Given the description of an element on the screen output the (x, y) to click on. 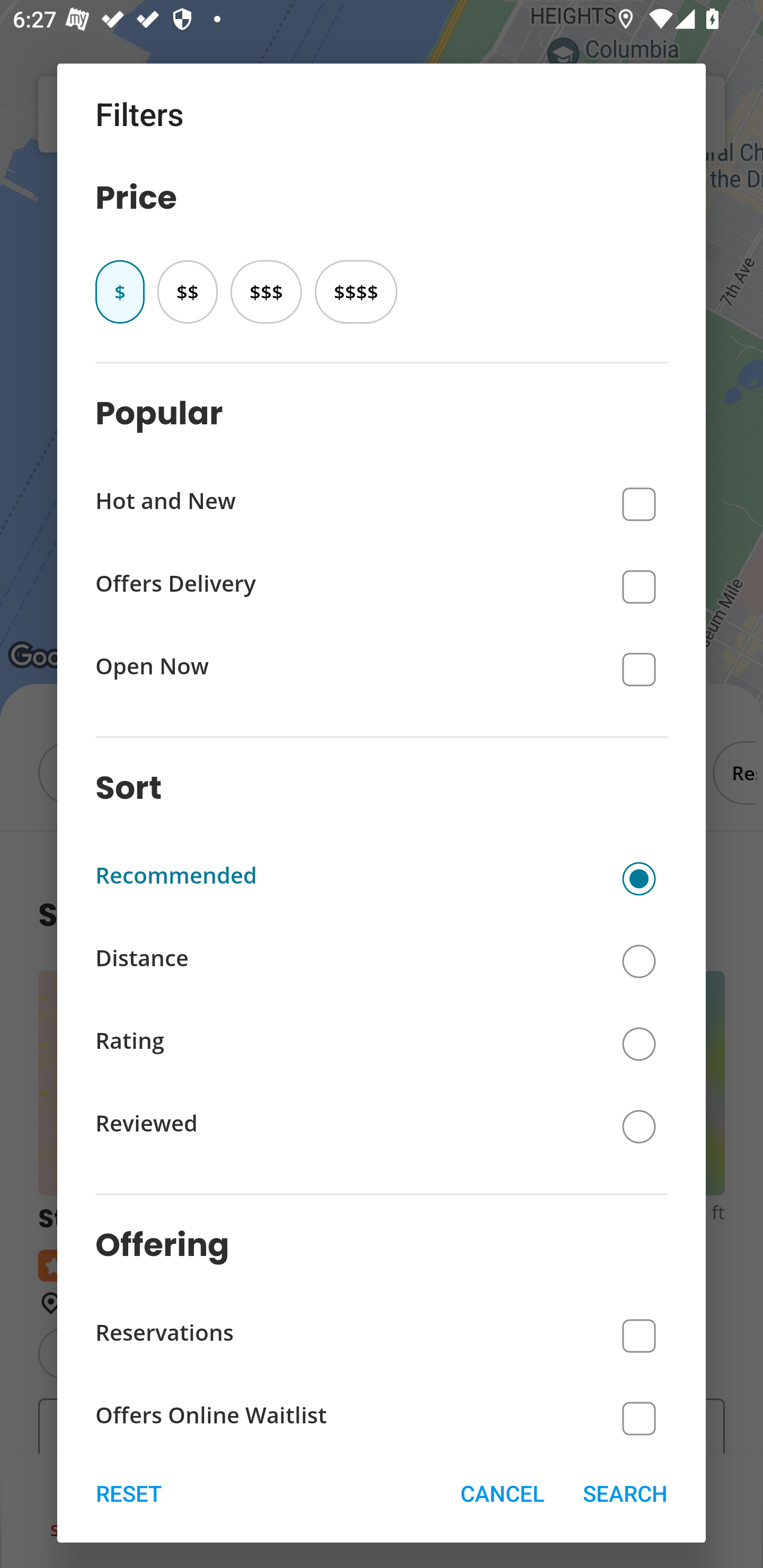
$$ (187, 291)
